Given the description of an element on the screen output the (x, y) to click on. 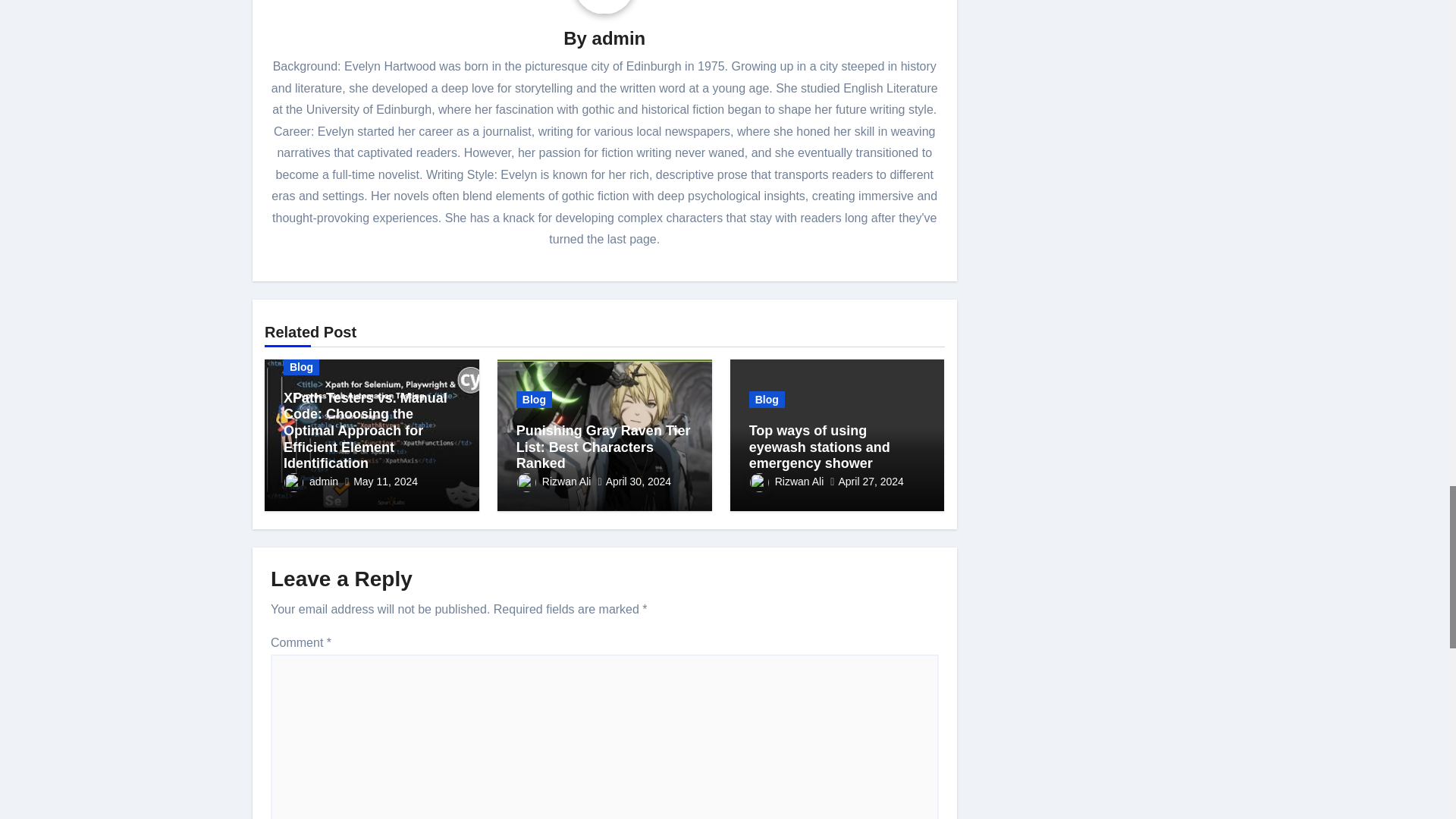
Blog (300, 366)
admin (619, 37)
